Given the description of an element on the screen output the (x, y) to click on. 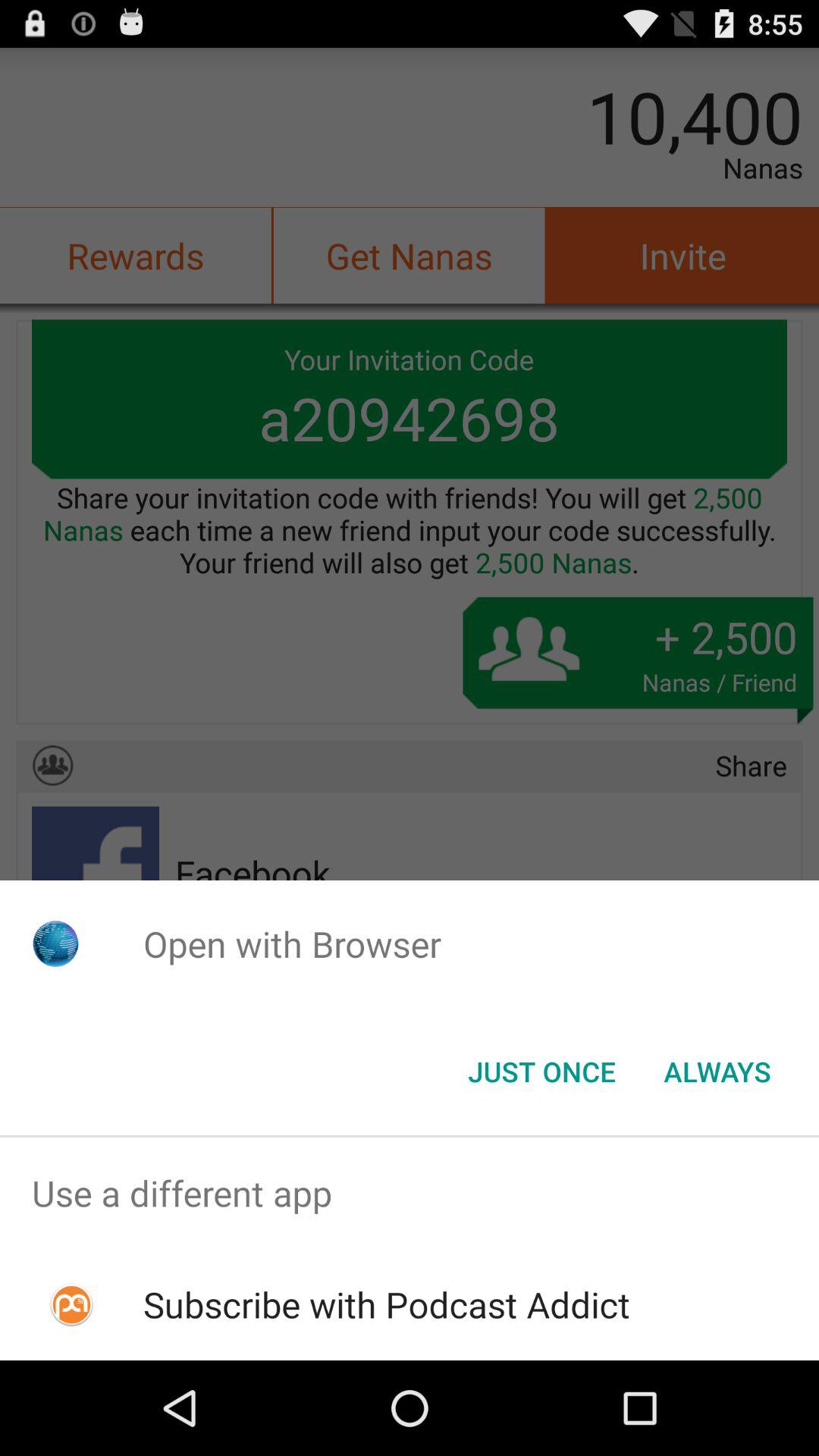
click the always icon (717, 1071)
